Given the description of an element on the screen output the (x, y) to click on. 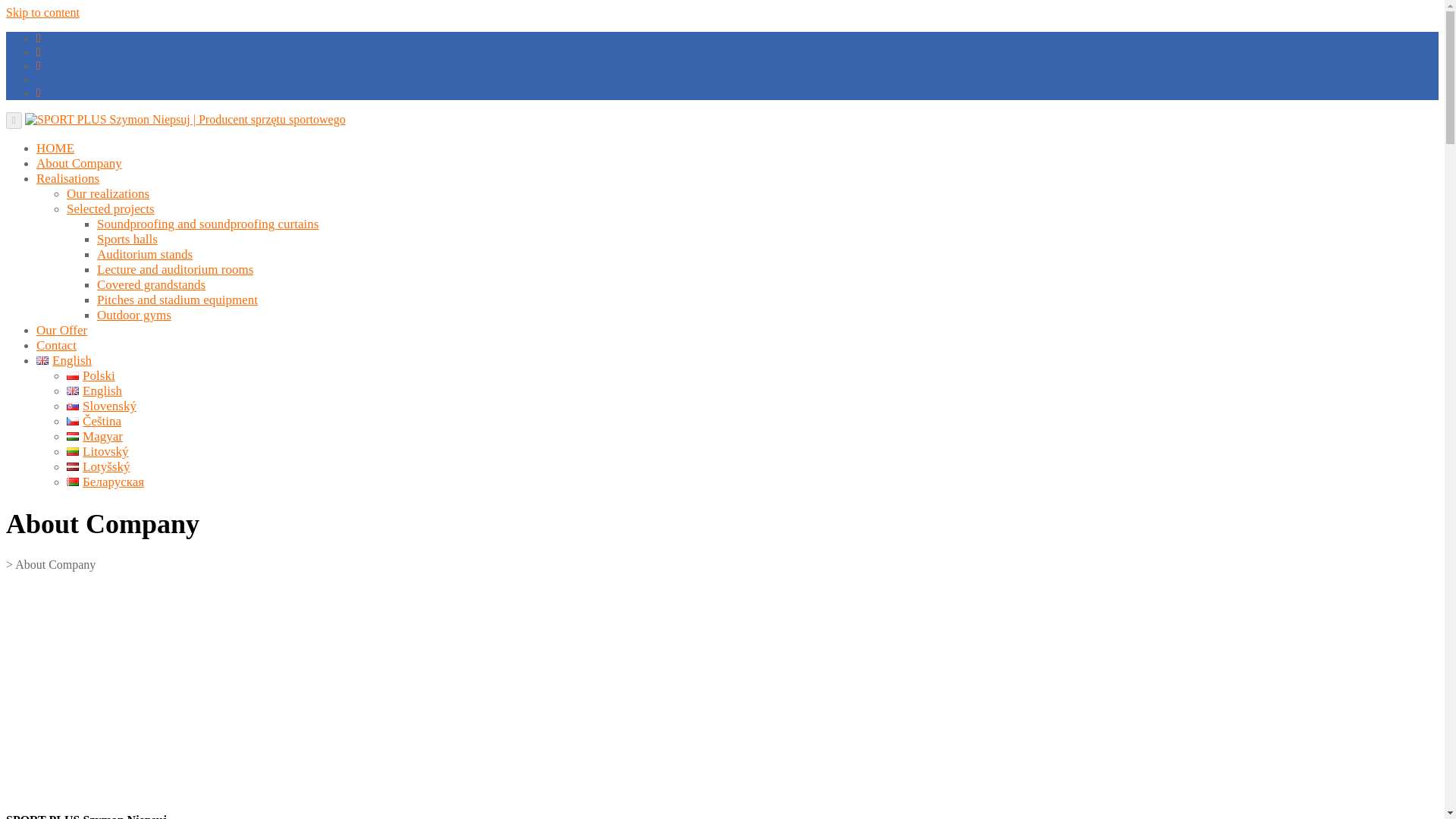
Outdoor gyms (134, 314)
Skip to content (42, 11)
Realisations (67, 178)
HOME (55, 147)
Our realizations (107, 193)
Selected projects (110, 208)
Covered grandstands (151, 284)
About Company (79, 163)
English (94, 391)
Contact (56, 345)
